Given the description of an element on the screen output the (x, y) to click on. 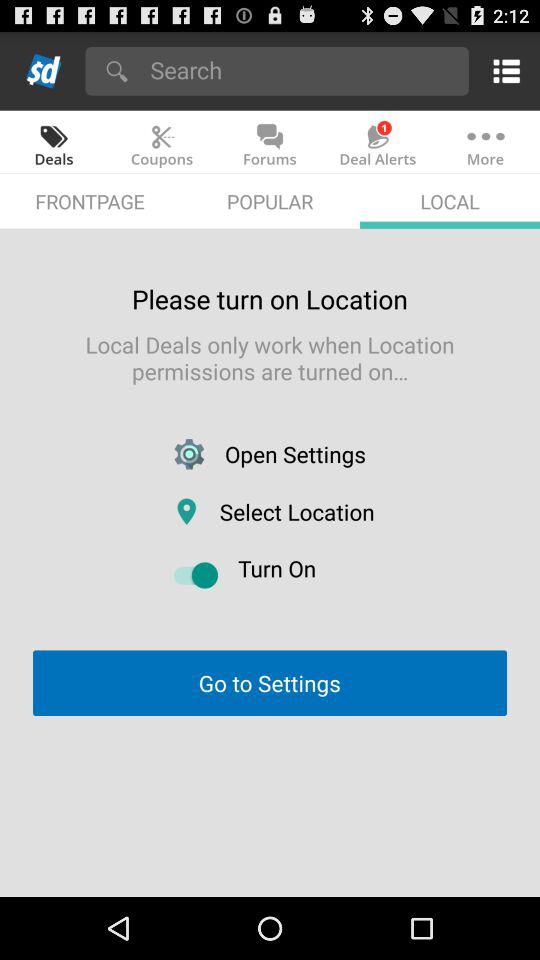
open the item to the right of frontpage app (270, 200)
